Given the description of an element on the screen output the (x, y) to click on. 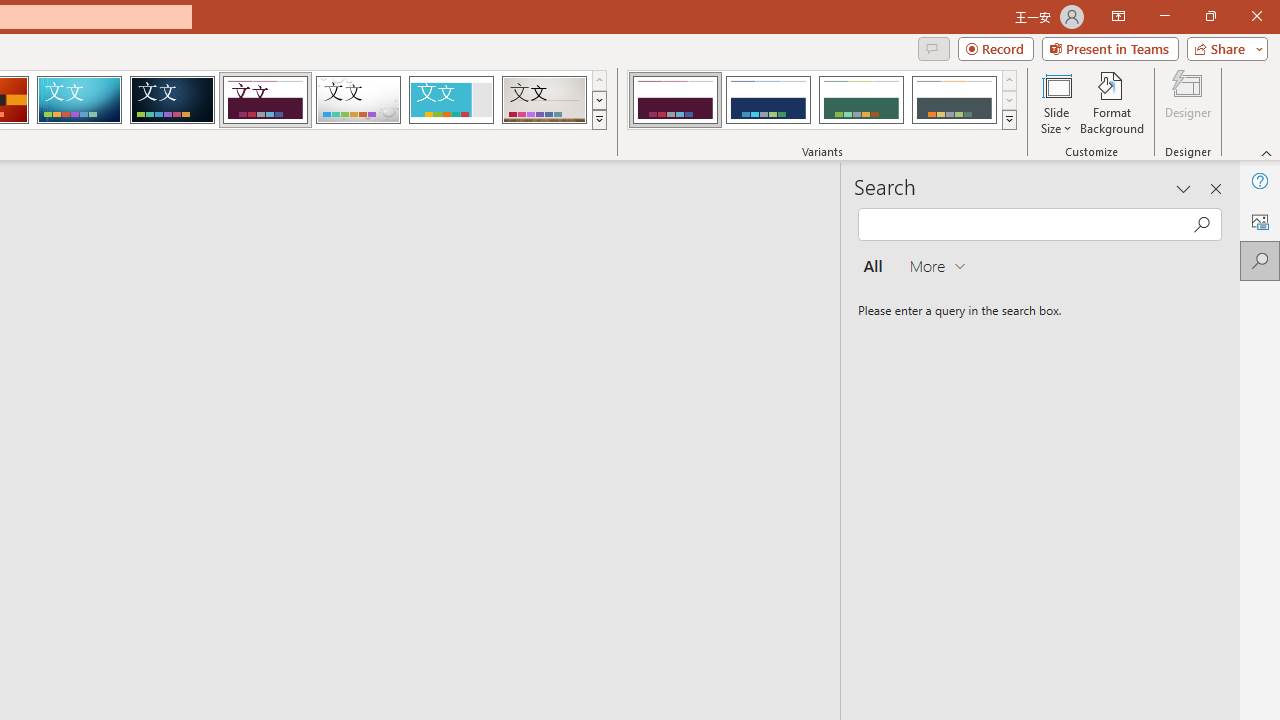
Dividend Variant 3 (861, 100)
Damask (171, 100)
Dividend Variant 1 (674, 100)
AutomationID: ThemeVariantsGallery (822, 99)
